Given the description of an element on the screen output the (x, y) to click on. 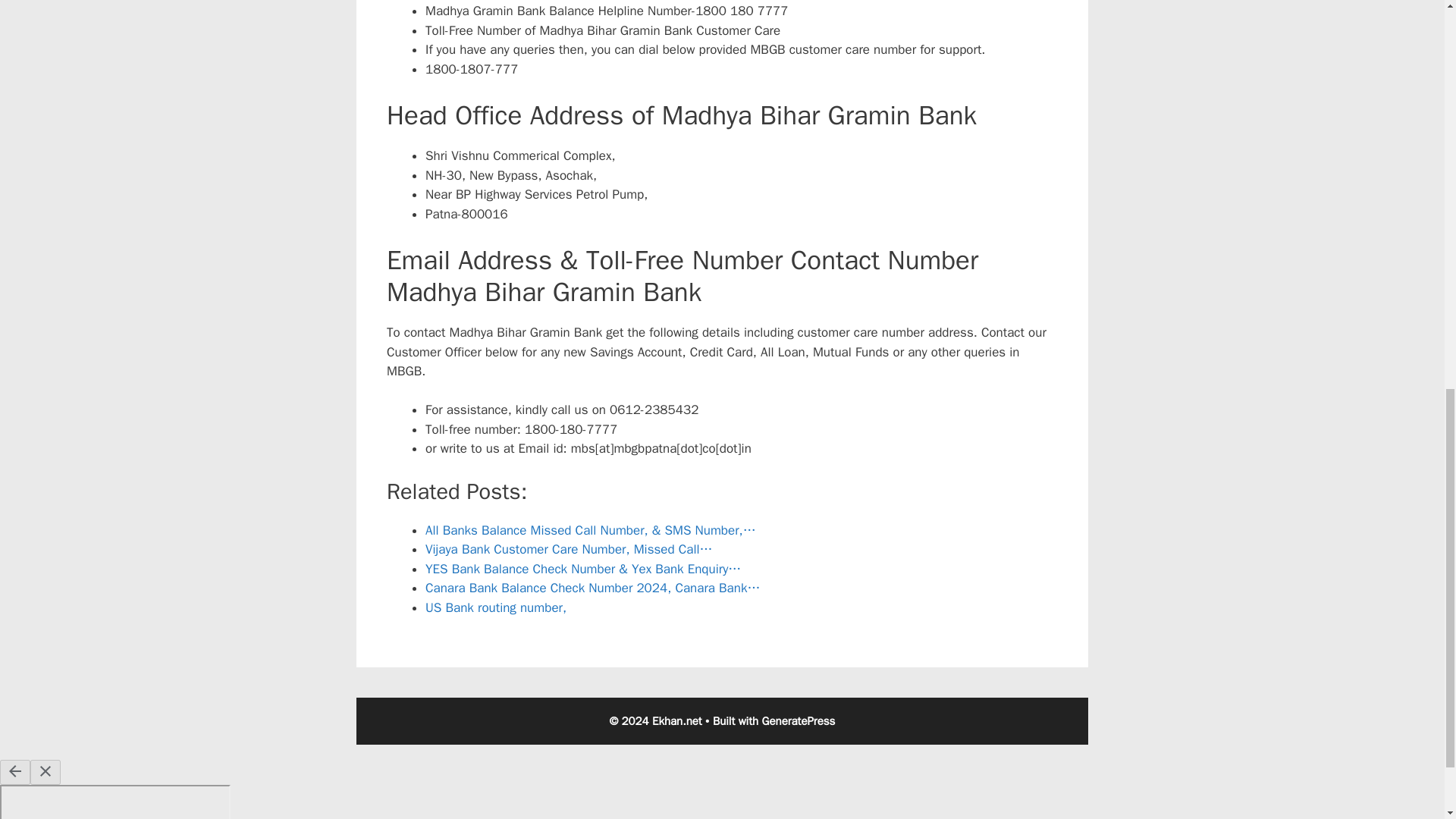
US Bank routing number, (495, 607)
GeneratePress (798, 721)
